Given the description of an element on the screen output the (x, y) to click on. 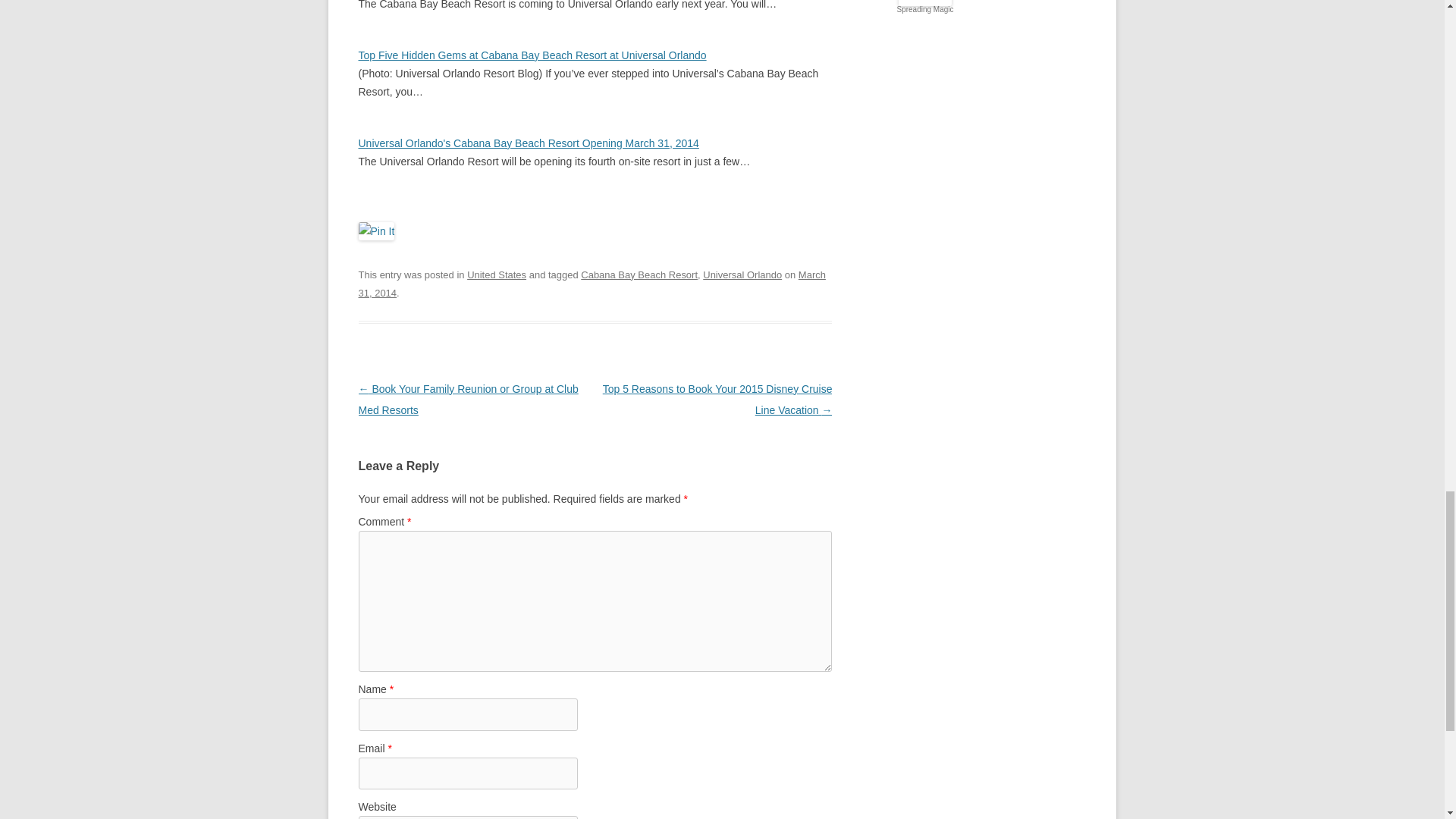
March 31, 2014 (591, 283)
Cabana Bay Beach Resort (638, 274)
Pin It (376, 230)
7:00 pm (591, 283)
United States (496, 274)
Universal Orlando (742, 274)
